Given the description of an element on the screen output the (x, y) to click on. 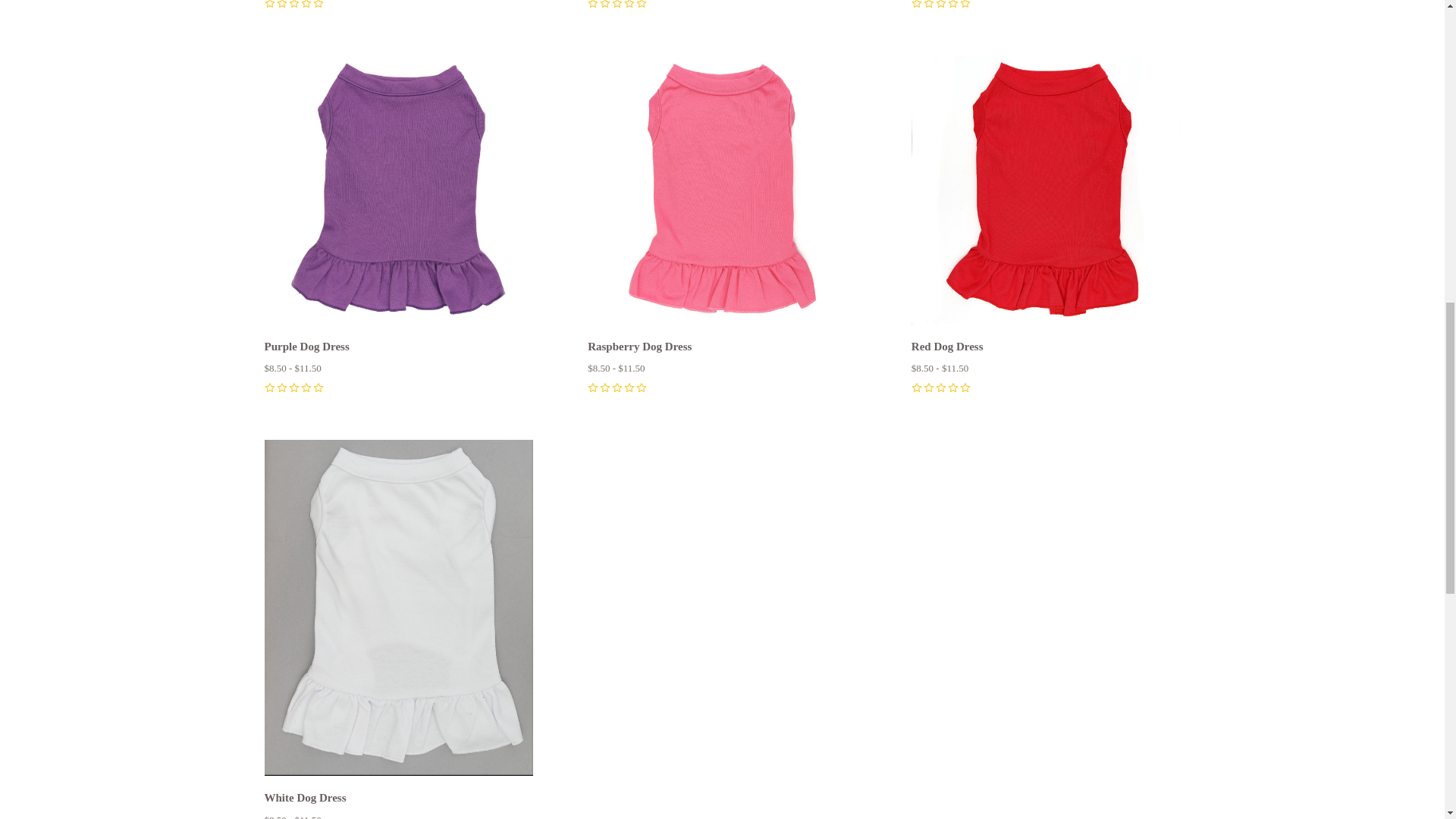
Raspberry Dog Dress (722, 192)
Red Dog Dress (1045, 189)
Red Dog Dress (1045, 192)
Purple Dog Dress (397, 192)
Red Dog Dress (947, 346)
Raspberry Dog Dress (722, 189)
Raspberry Dog Dress (639, 346)
Purple Dog Dress (397, 189)
Purple Dog Dress (306, 346)
